Given the description of an element on the screen output the (x, y) to click on. 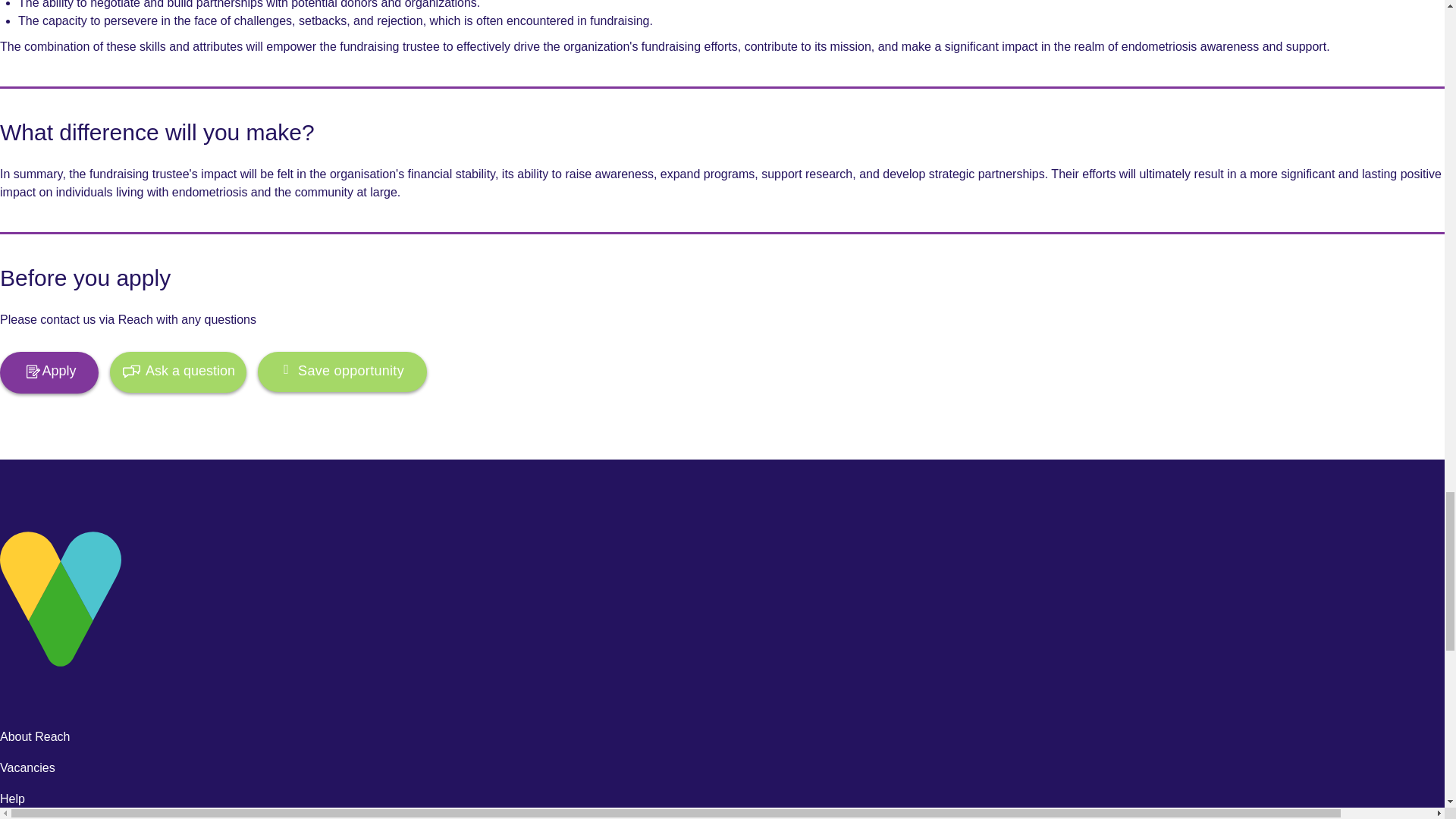
Help (12, 798)
Vacancies (27, 767)
Save opportunity (341, 372)
Save to your dashboard (341, 372)
About Reach (34, 736)
Ask a question (178, 372)
Apply (49, 372)
